Given the description of an element on the screen output the (x, y) to click on. 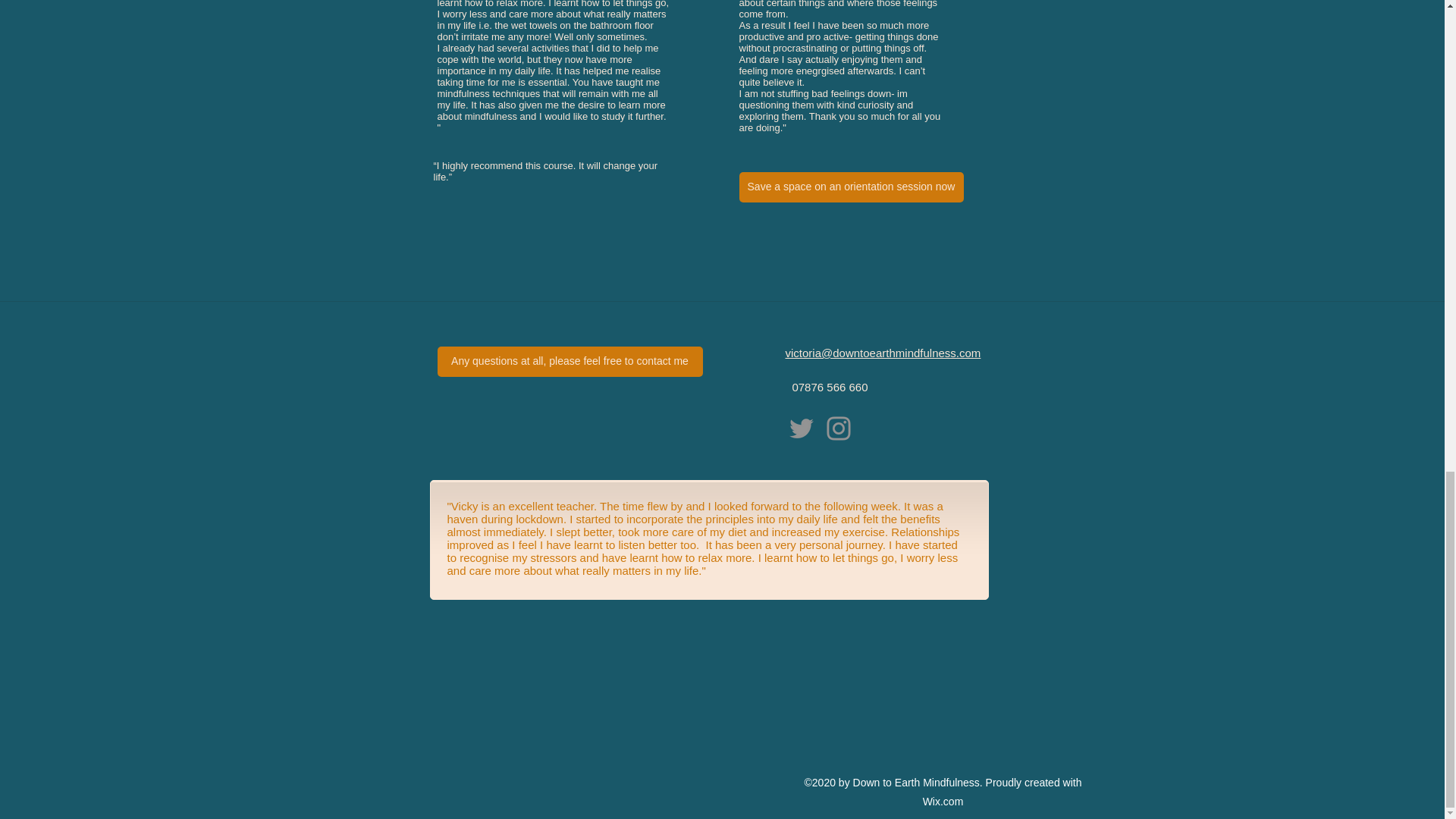
Any questions at all, please feel free to contact me (568, 361)
Save a space on an orientation session now (850, 186)
